Given the description of an element on the screen output the (x, y) to click on. 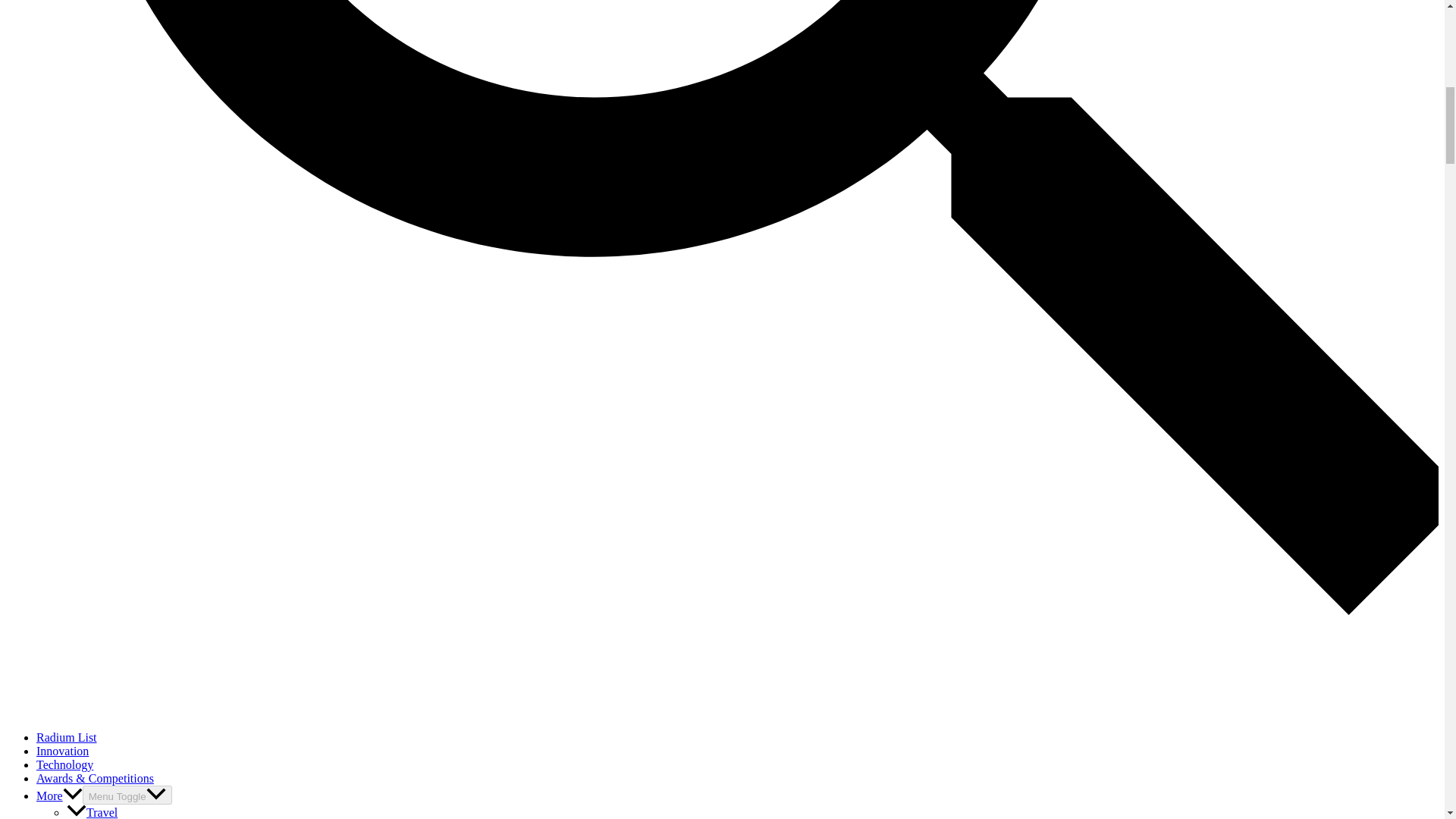
Technology (64, 764)
More (59, 795)
Innovation (62, 750)
Menu Toggle (126, 794)
Radium List (66, 737)
Travel (91, 812)
